Given the description of an element on the screen output the (x, y) to click on. 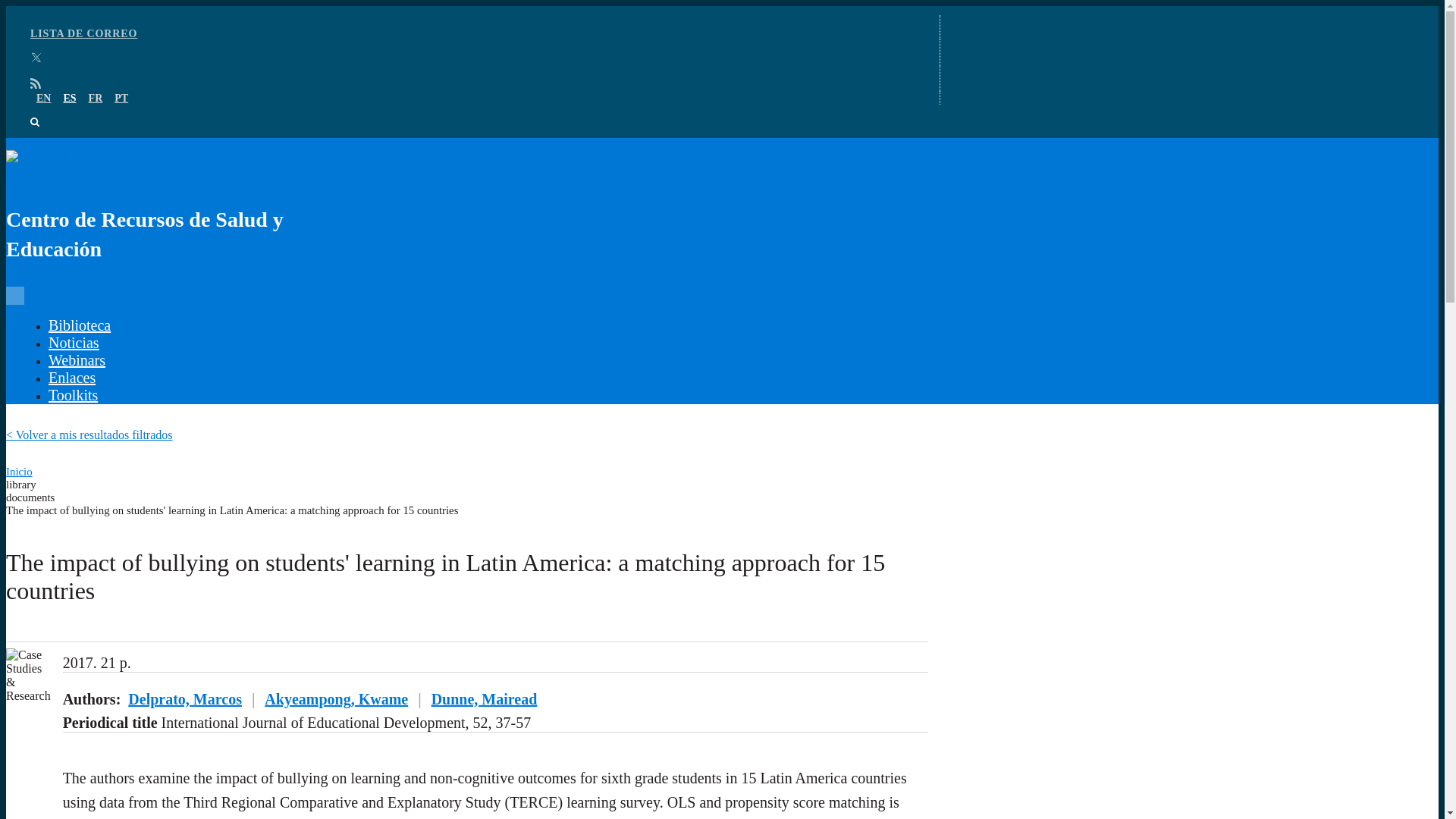
EN (43, 110)
Toolkits (72, 408)
Dunne, Mairead (115, 753)
Enlaces (72, 391)
Akyeampong, Kwame (134, 736)
LISTA DE CORREO (83, 47)
PT (121, 110)
Biblioteca (79, 338)
FR (95, 110)
Pasar al contenido principal (73, 11)
